Given the description of an element on the screen output the (x, y) to click on. 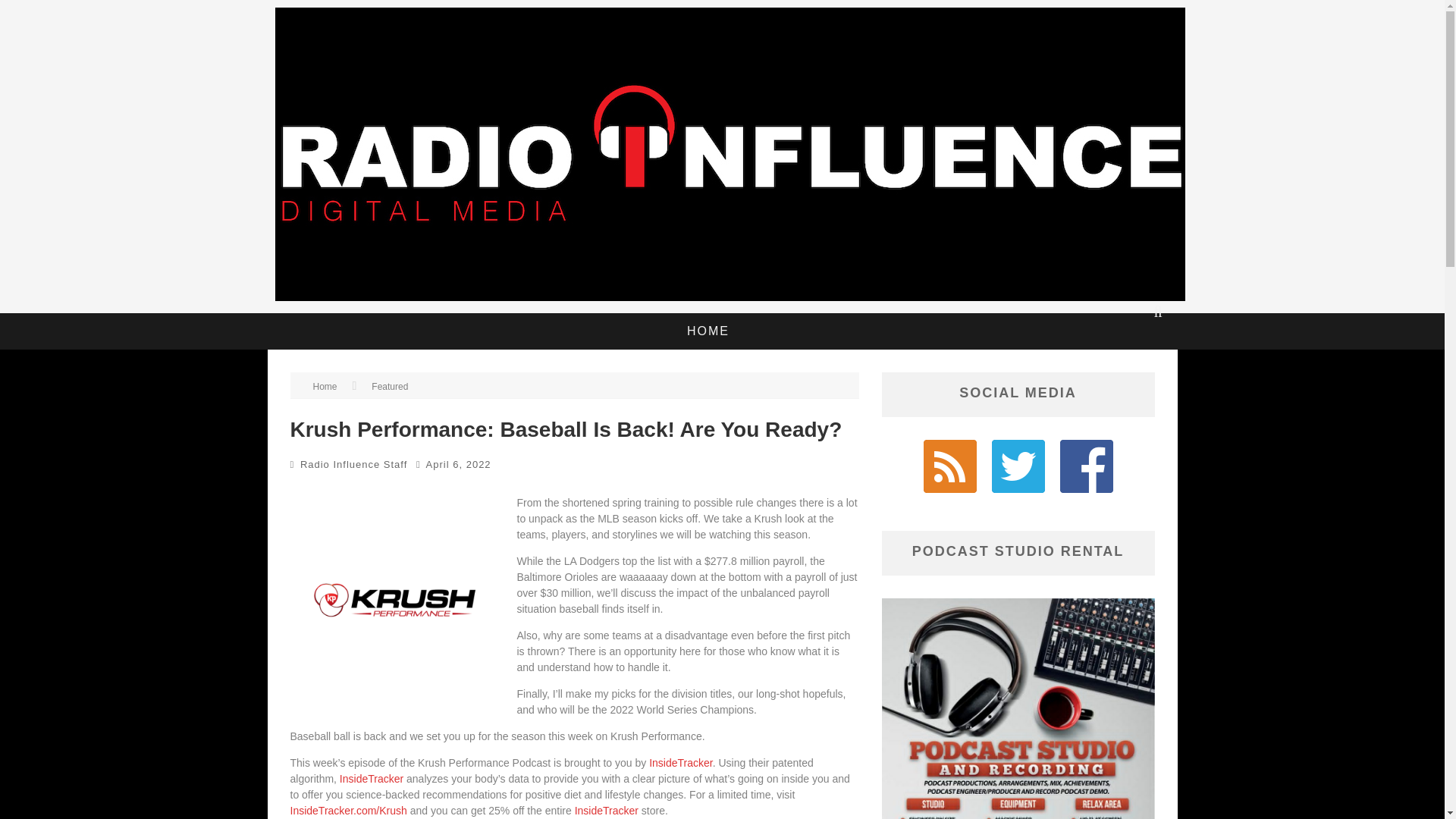
View all posts in Featured (389, 386)
InsideTracker (681, 762)
Radio Influence Staff (353, 464)
InsideTracker (607, 809)
HOME (708, 330)
Featured (389, 386)
Home (324, 386)
InsideTracker (371, 777)
